Given the description of an element on the screen output the (x, y) to click on. 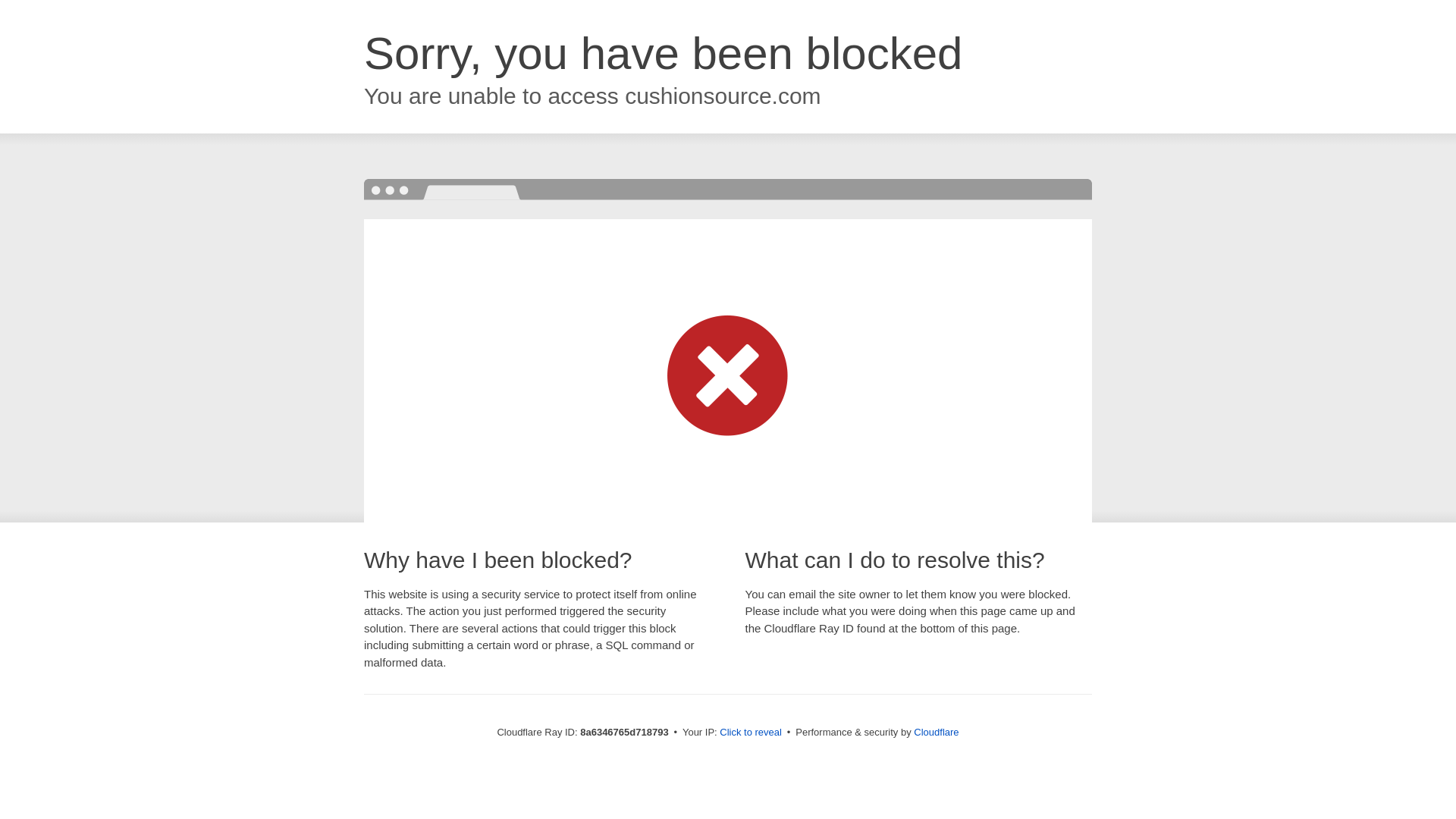
Cloudflare (936, 731)
Click to reveal (750, 732)
